Given the description of an element on the screen output the (x, y) to click on. 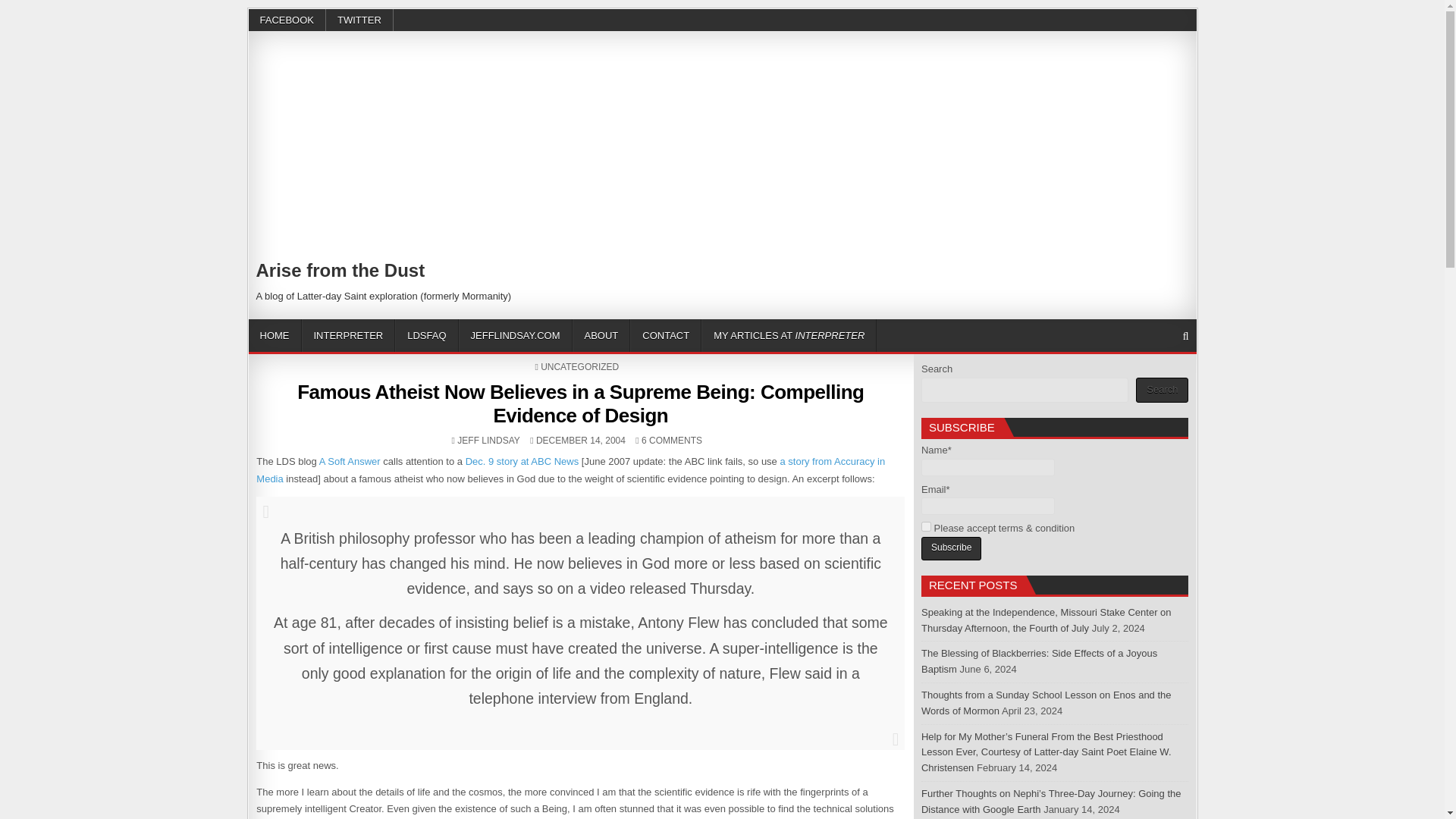
CONTACT (665, 335)
TWITTER (359, 20)
HOME (274, 335)
ABOUT (601, 335)
Dec. 9 story at ABC News (522, 460)
INTERPRETER (348, 335)
6 COMMENTS (671, 439)
Subscribe (951, 548)
MY ARTICLES AT INTERPRETER (788, 335)
A Soft Answer (349, 460)
